Given the description of an element on the screen output the (x, y) to click on. 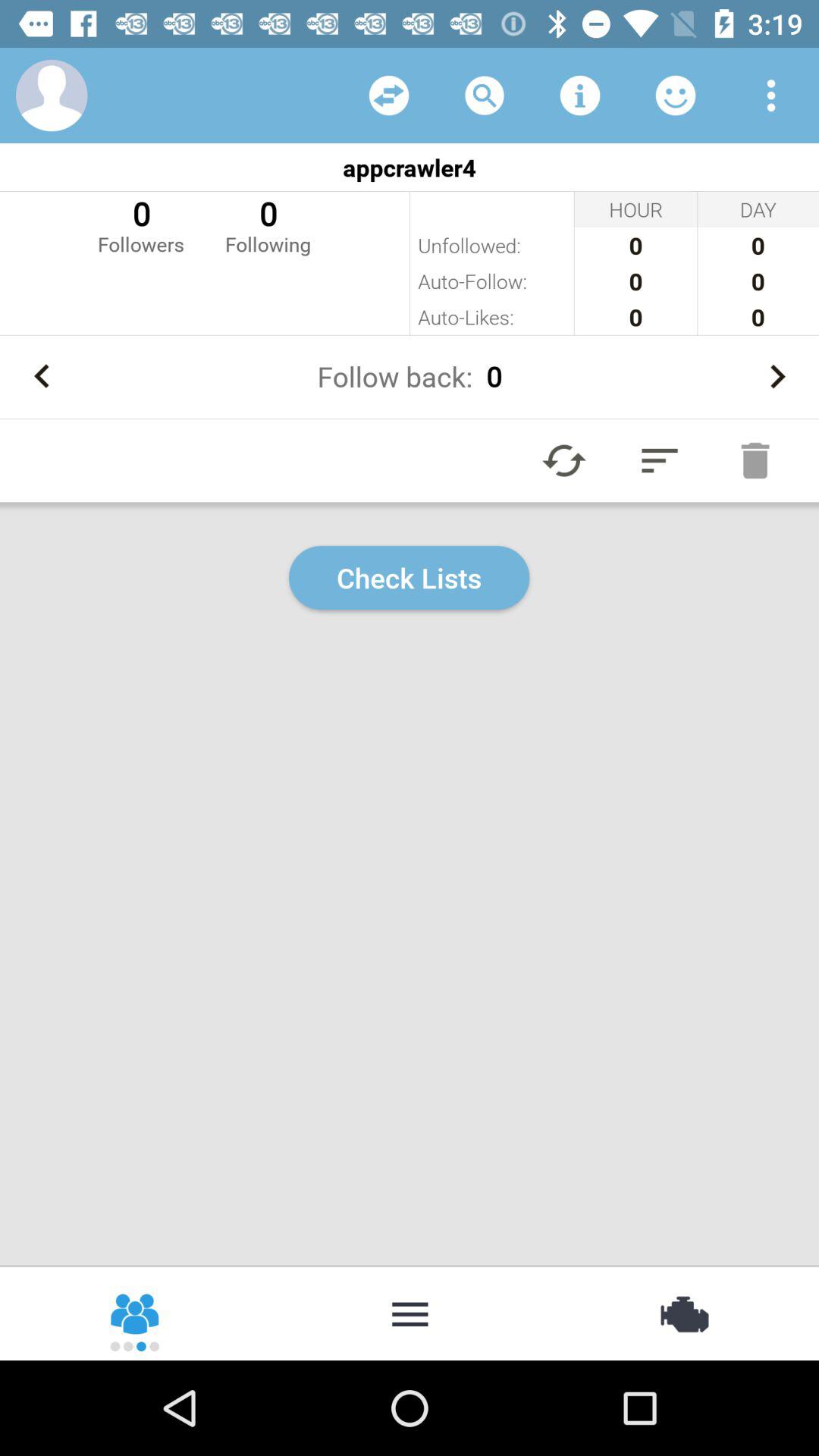
search button (484, 95)
